Given the description of an element on the screen output the (x, y) to click on. 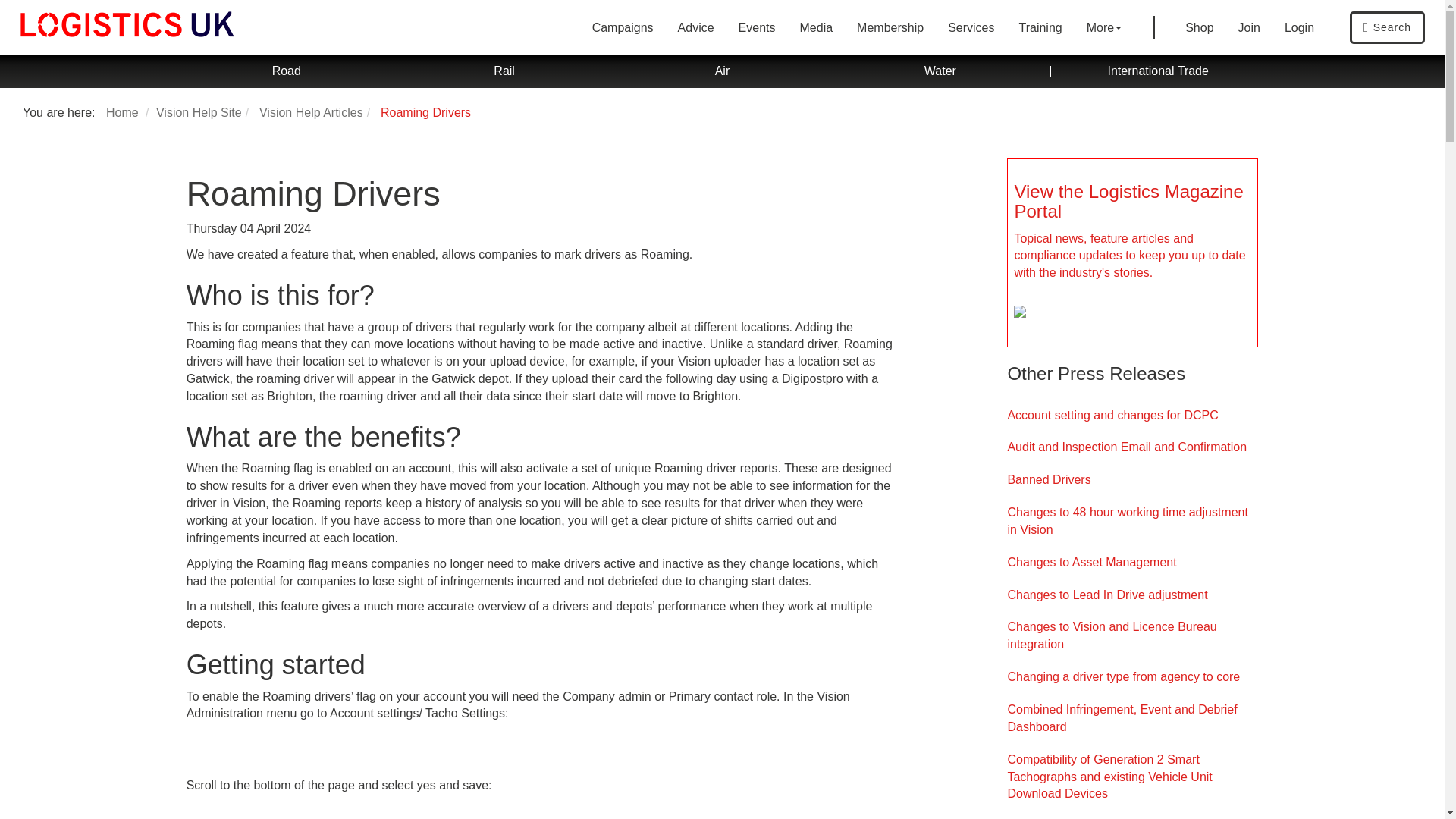
Membership (890, 26)
Training (1040, 26)
Events (756, 26)
Air (721, 71)
Campaigns (622, 26)
Vision Help Site (198, 112)
Search (1387, 27)
Road (285, 71)
Training (1040, 26)
Vision Help Articles (310, 112)
Advice (695, 26)
Changes to 48 hour working time adjustment in Vision (1132, 521)
Media (816, 26)
Banned Drivers (1132, 479)
International Trade (1157, 71)
